Given the description of an element on the screen output the (x, y) to click on. 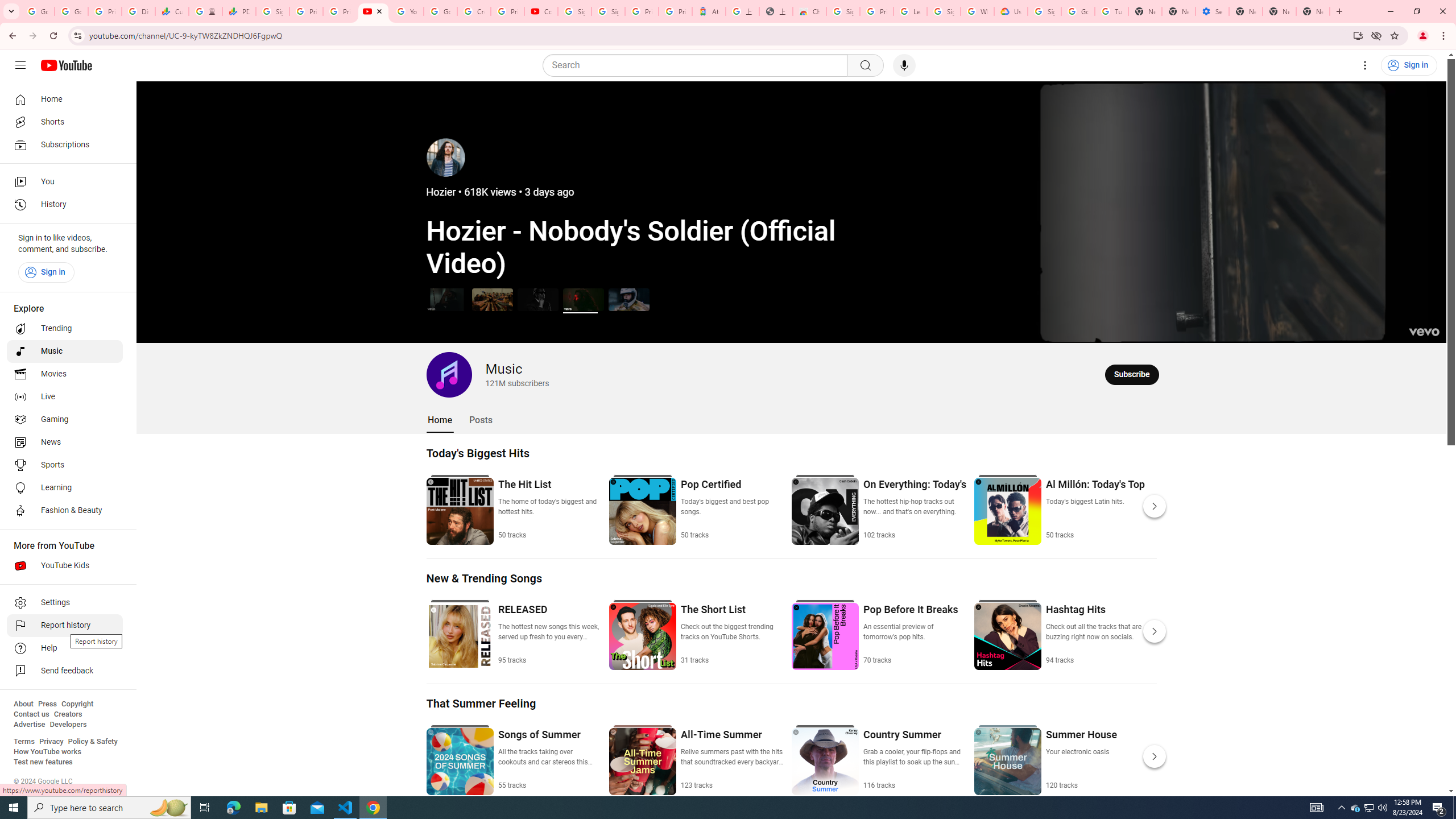
Music (64, 350)
Trending (64, 328)
Hozier - Nobody's Soldier (Official Video) (583, 299)
Google Workspace Admin Community (37, 11)
